Given the description of an element on the screen output the (x, y) to click on. 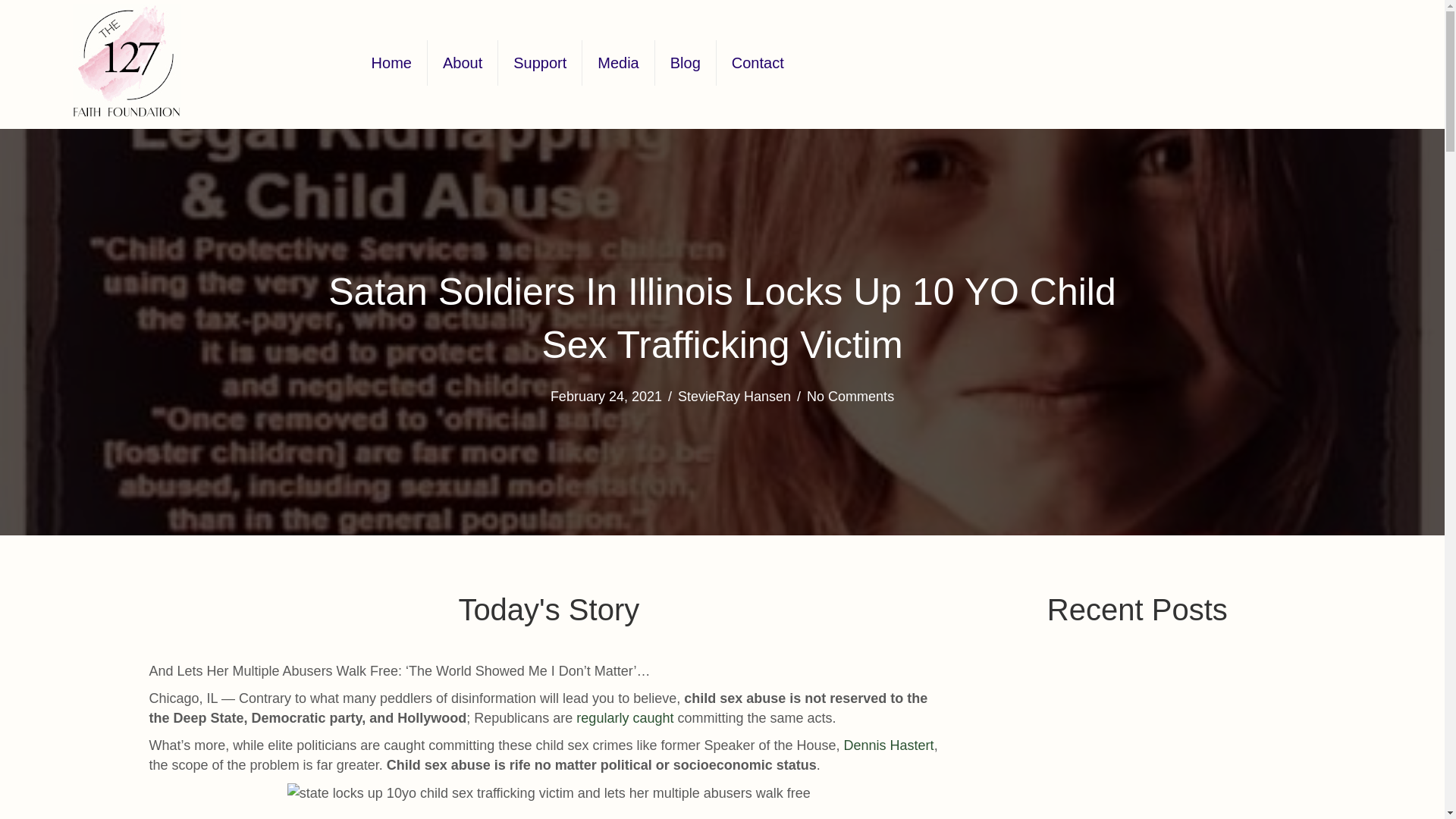
Blog (685, 62)
Media (617, 62)
Contact (757, 62)
regularly caught (624, 717)
Home (391, 62)
About (462, 62)
Support (538, 62)
StevieRay Hansen (734, 396)
Dennis Hastert (889, 744)
127-Faith-Foundation-Logo-6 (126, 60)
